Given the description of an element on the screen output the (x, y) to click on. 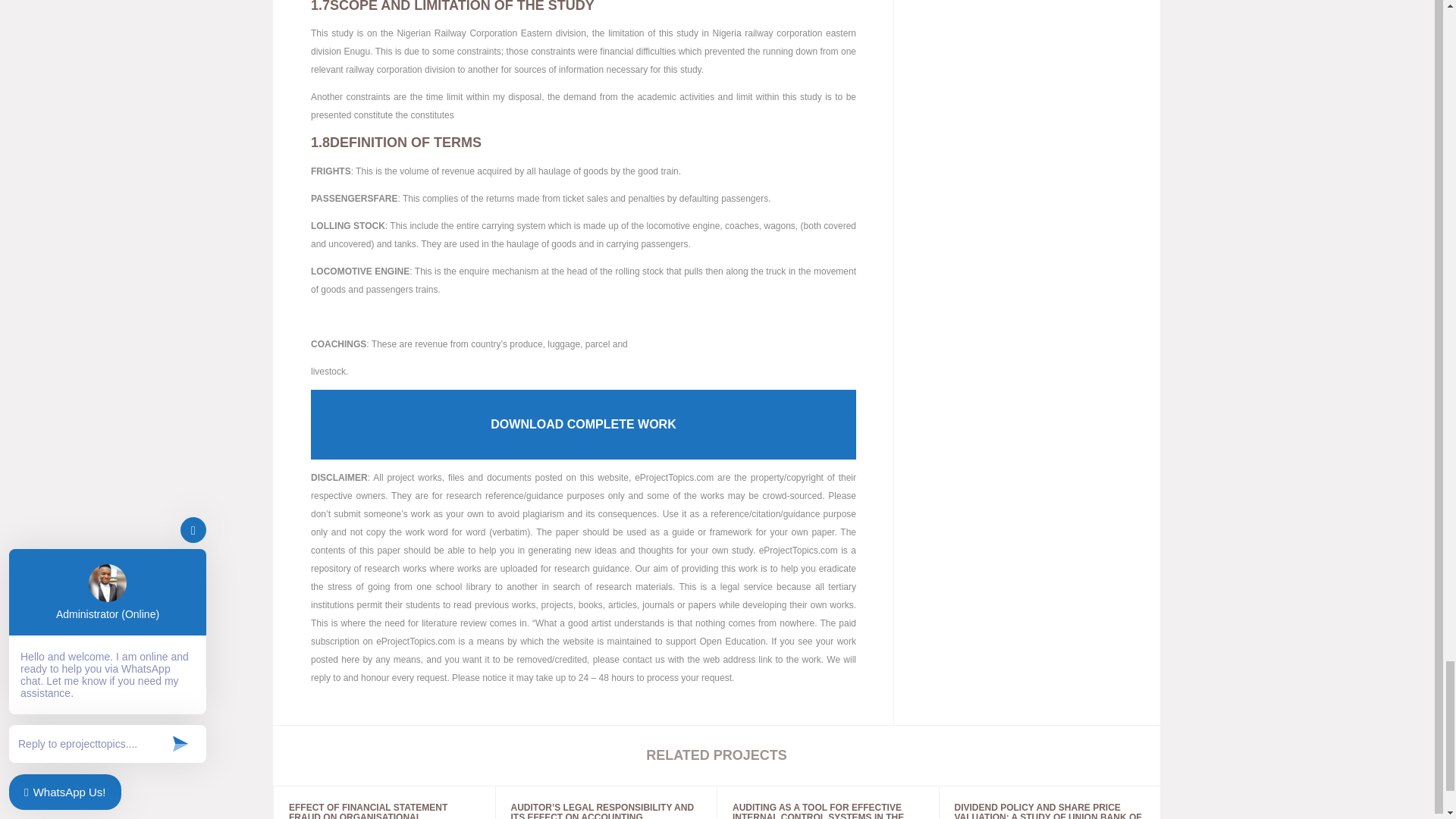
DOWNLOAD COMPLETE WORK (583, 424)
